Given the description of an element on the screen output the (x, y) to click on. 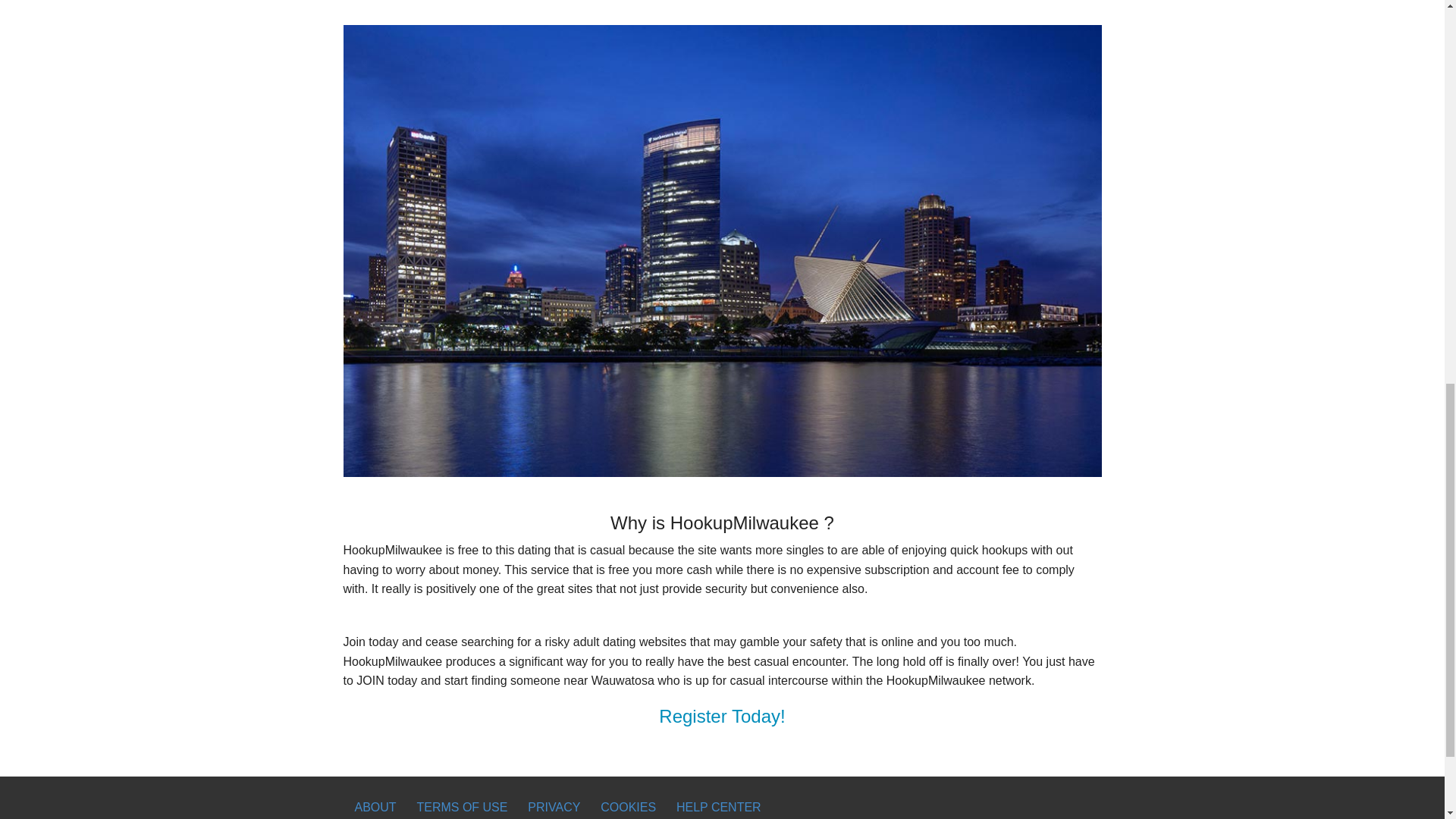
TERMS OF USE (461, 807)
CONTACTS (387, 817)
HELP CENTER (719, 807)
PRIVACY (553, 807)
Register Today! (721, 715)
ABOUT (375, 807)
COOKIES (627, 807)
